Given the description of an element on the screen output the (x, y) to click on. 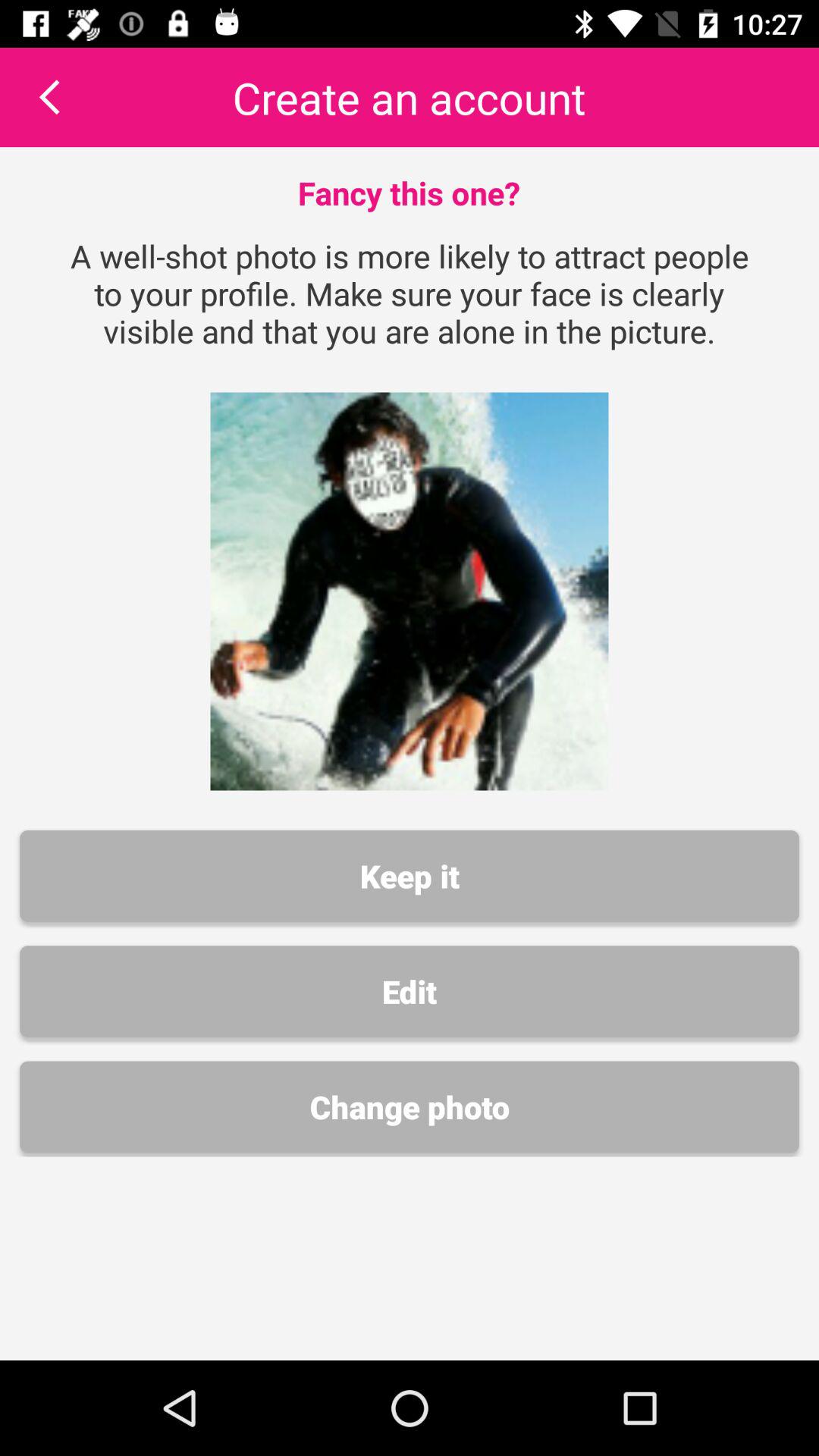
scroll until the keep it (409, 875)
